Given the description of an element on the screen output the (x, y) to click on. 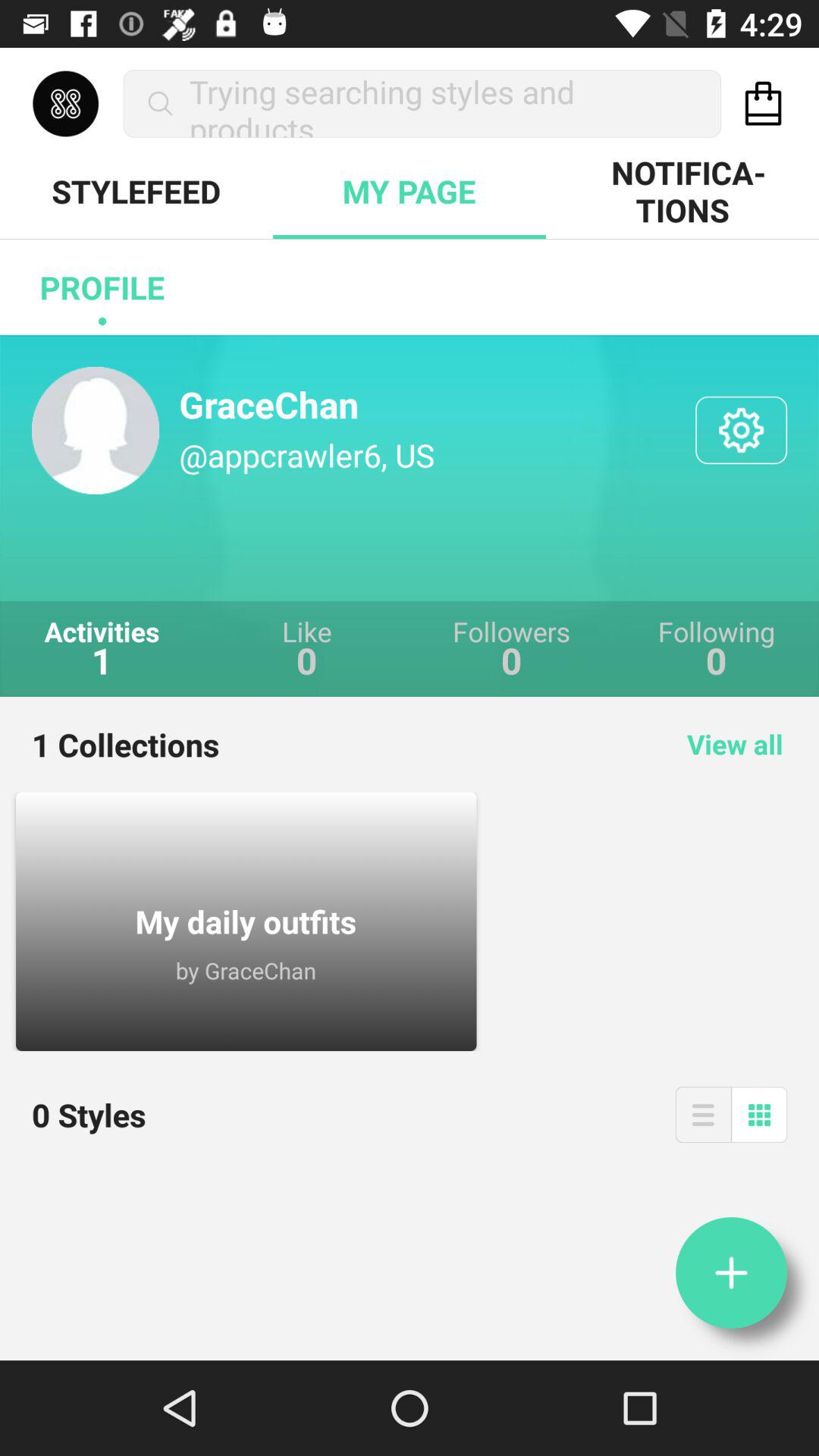
go to menu (702, 1114)
